Given the description of an element on the screen output the (x, y) to click on. 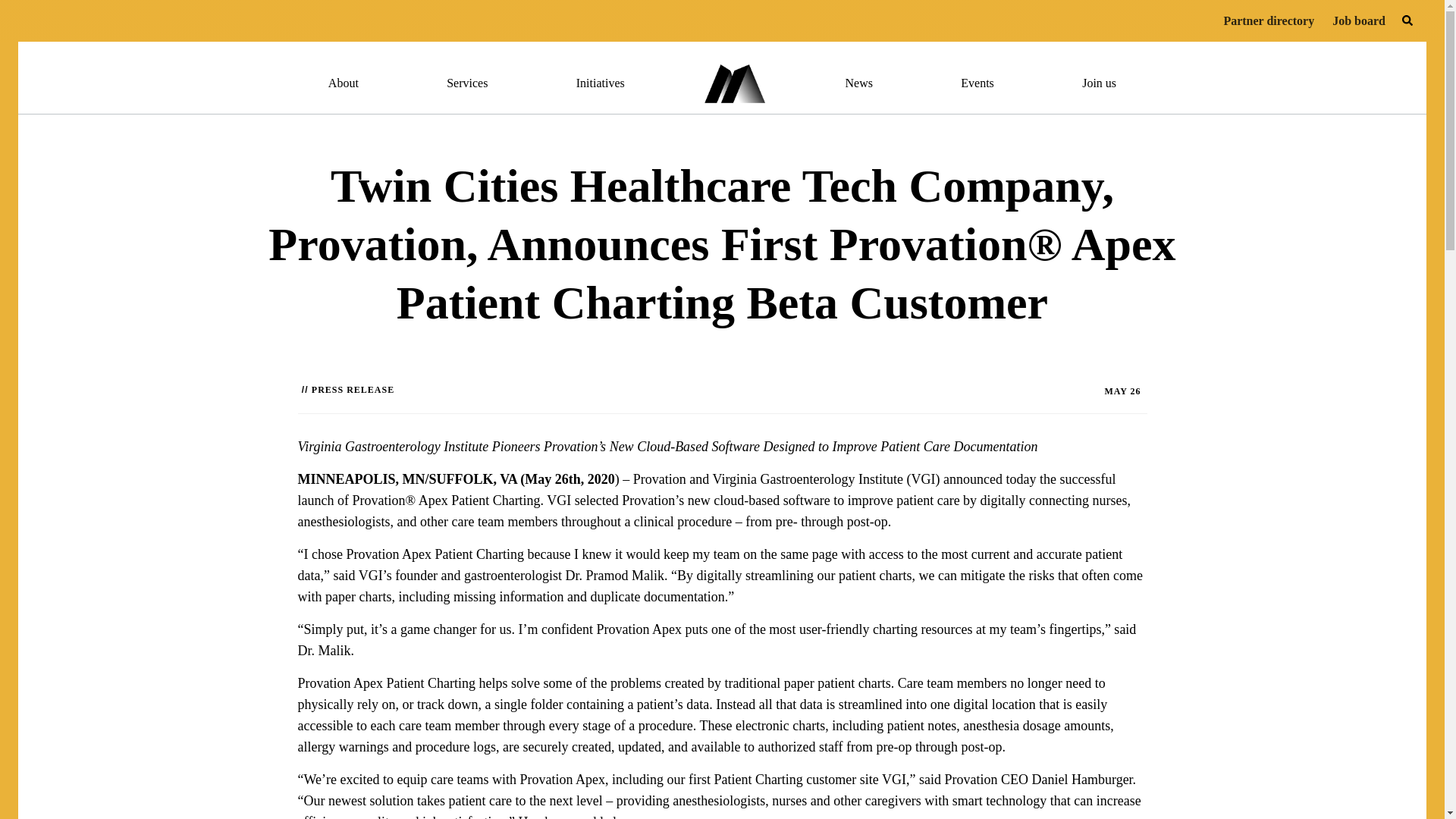
Join us (1098, 82)
Services (466, 82)
Job board (1359, 21)
Partner directory (1268, 21)
About (343, 82)
News (858, 82)
Initiatives (600, 82)
Press Release (352, 389)
Events (977, 82)
